Given the description of an element on the screen output the (x, y) to click on. 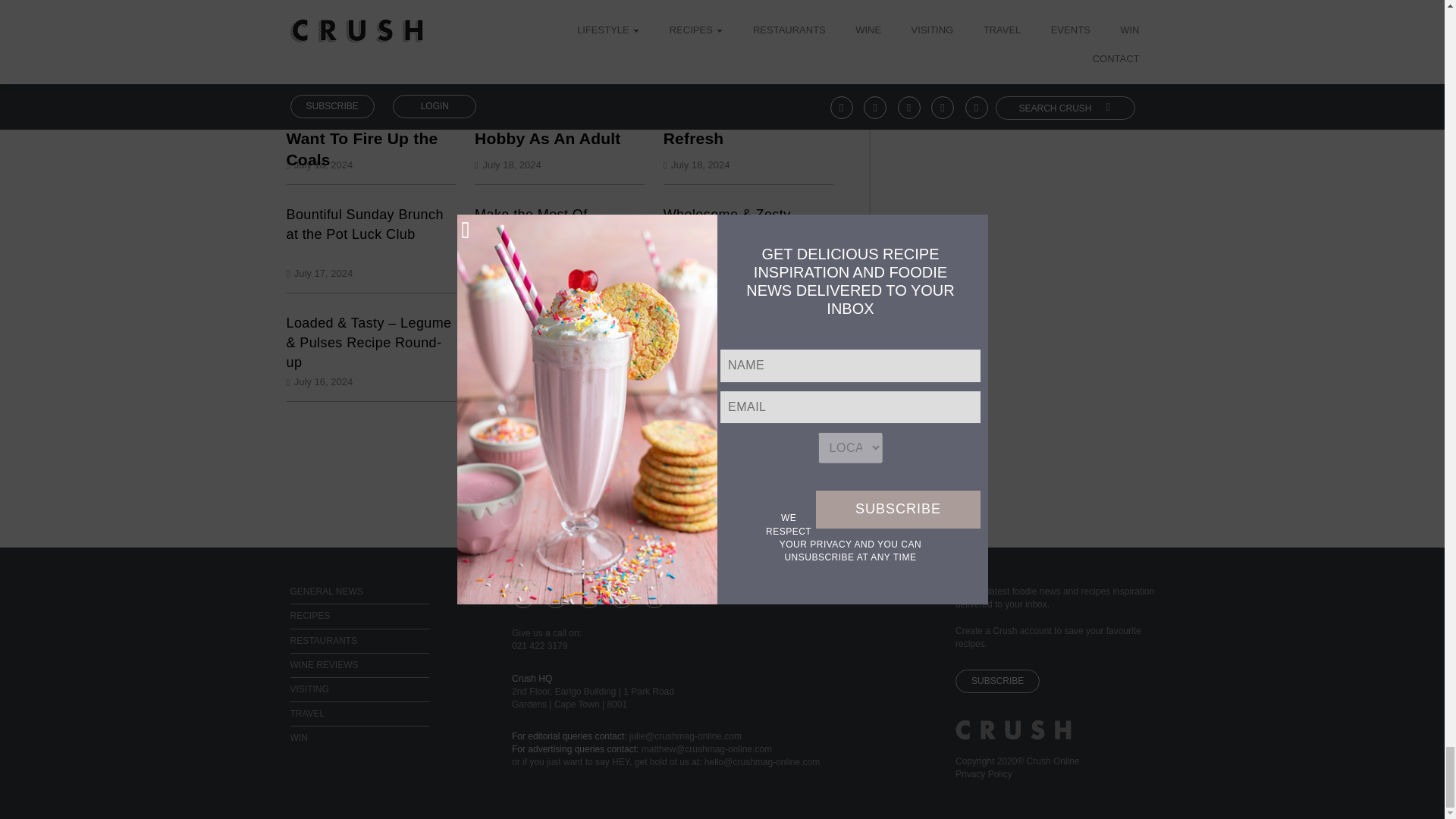
Crush Mag Online (1013, 737)
